Given the description of an element on the screen output the (x, y) to click on. 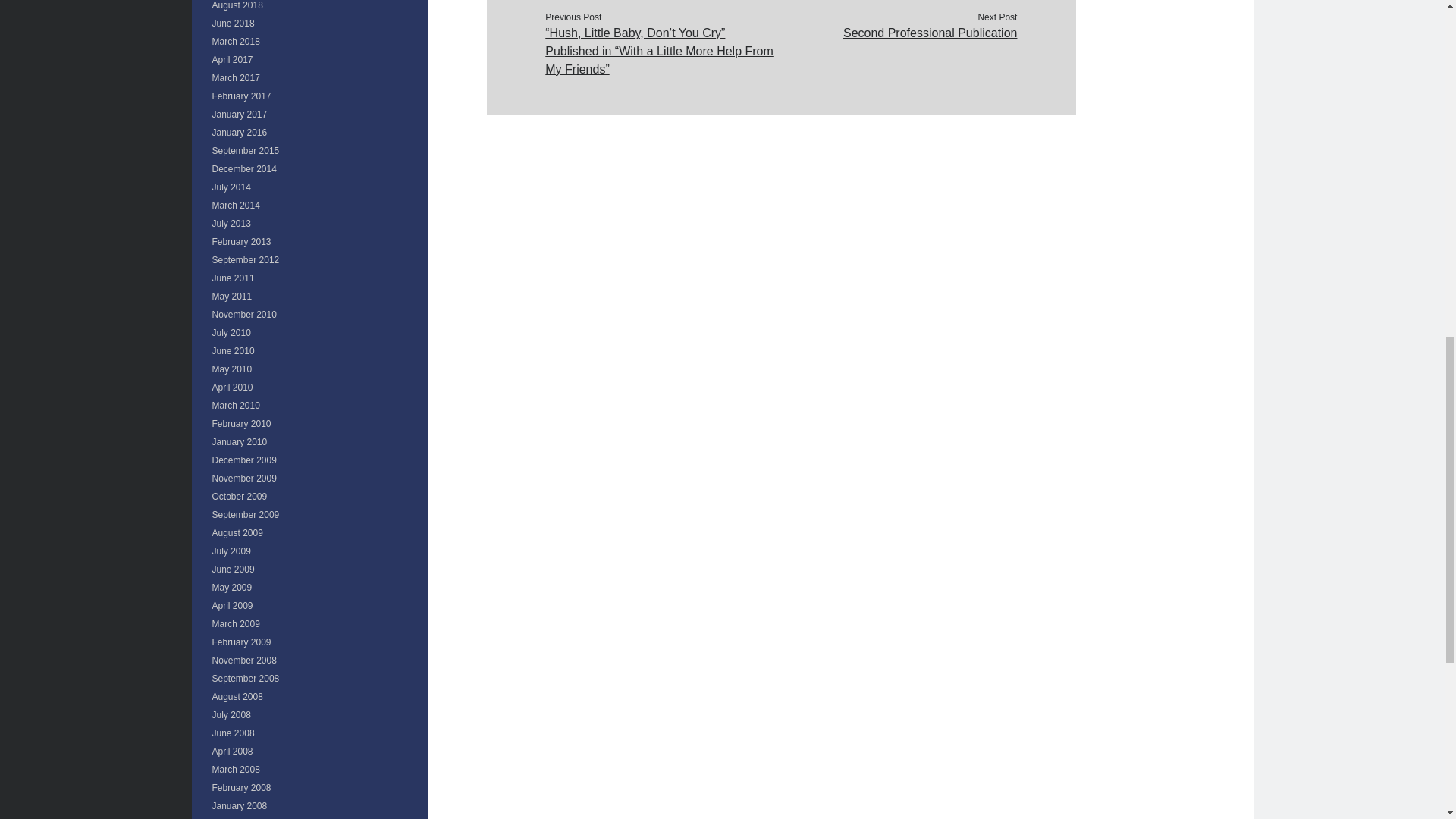
December 2014 (244, 168)
March 2018 (236, 41)
February 2013 (241, 241)
September 2015 (245, 150)
March 2017 (236, 77)
September 2012 (245, 259)
April 2017 (232, 59)
June 2018 (233, 23)
July 2013 (231, 223)
January 2017 (239, 113)
August 2018 (237, 5)
January 2016 (239, 132)
March 2014 (236, 204)
February 2017 (241, 95)
July 2014 (231, 186)
